Given the description of an element on the screen output the (x, y) to click on. 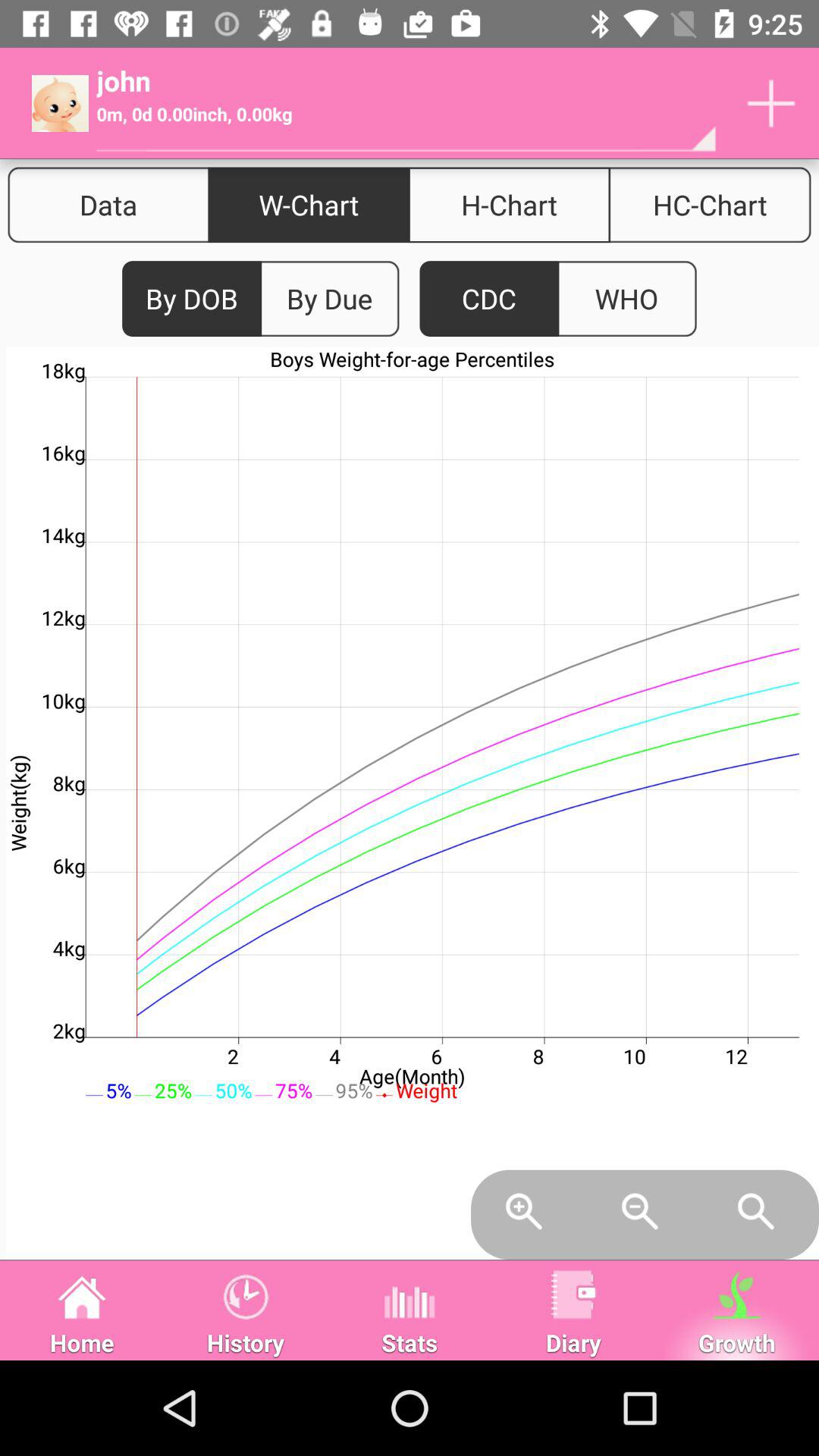
click item next to h-chart item (709, 204)
